Given the description of an element on the screen output the (x, y) to click on. 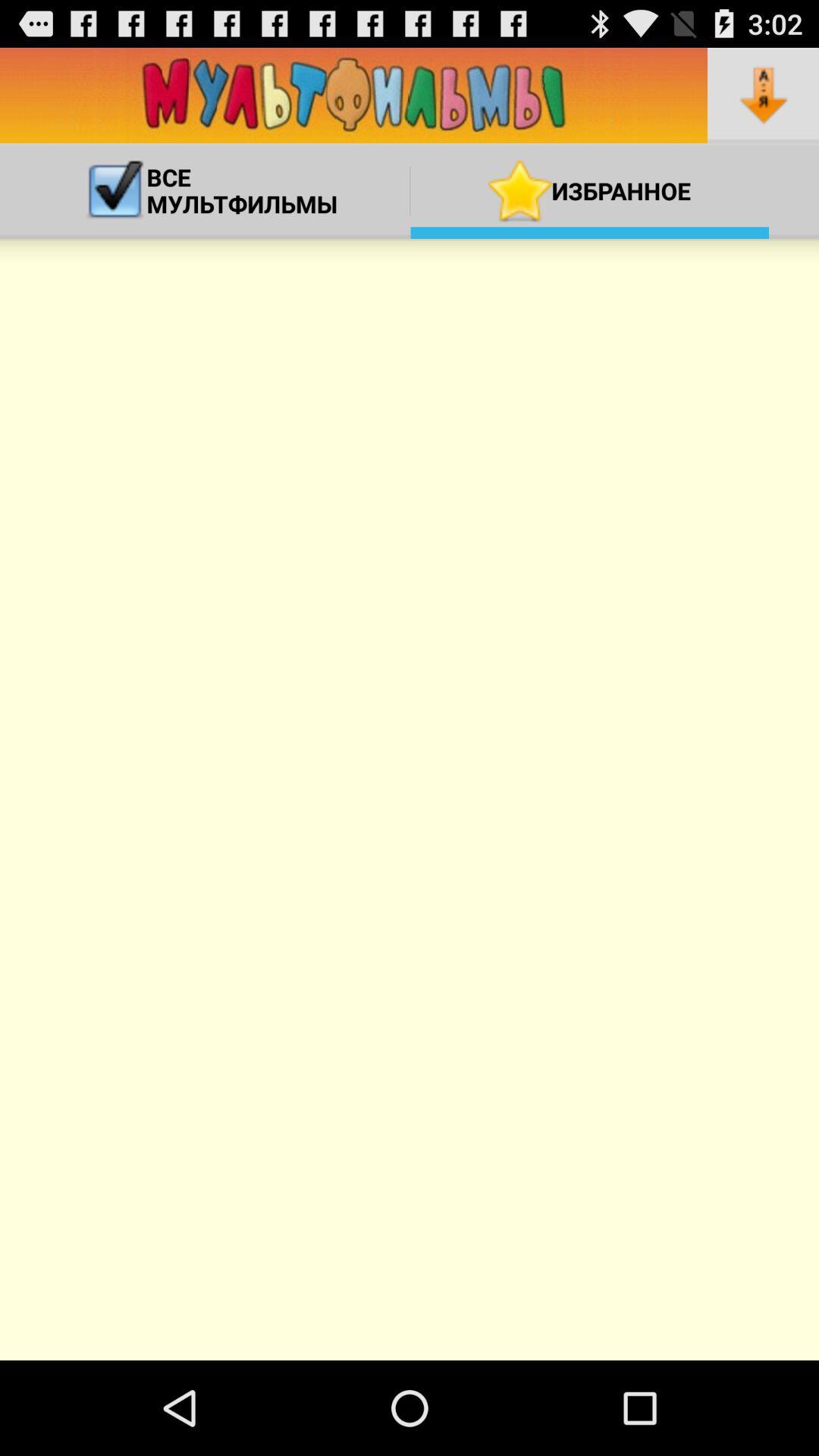
open icon at the center (409, 799)
